Given the description of an element on the screen output the (x, y) to click on. 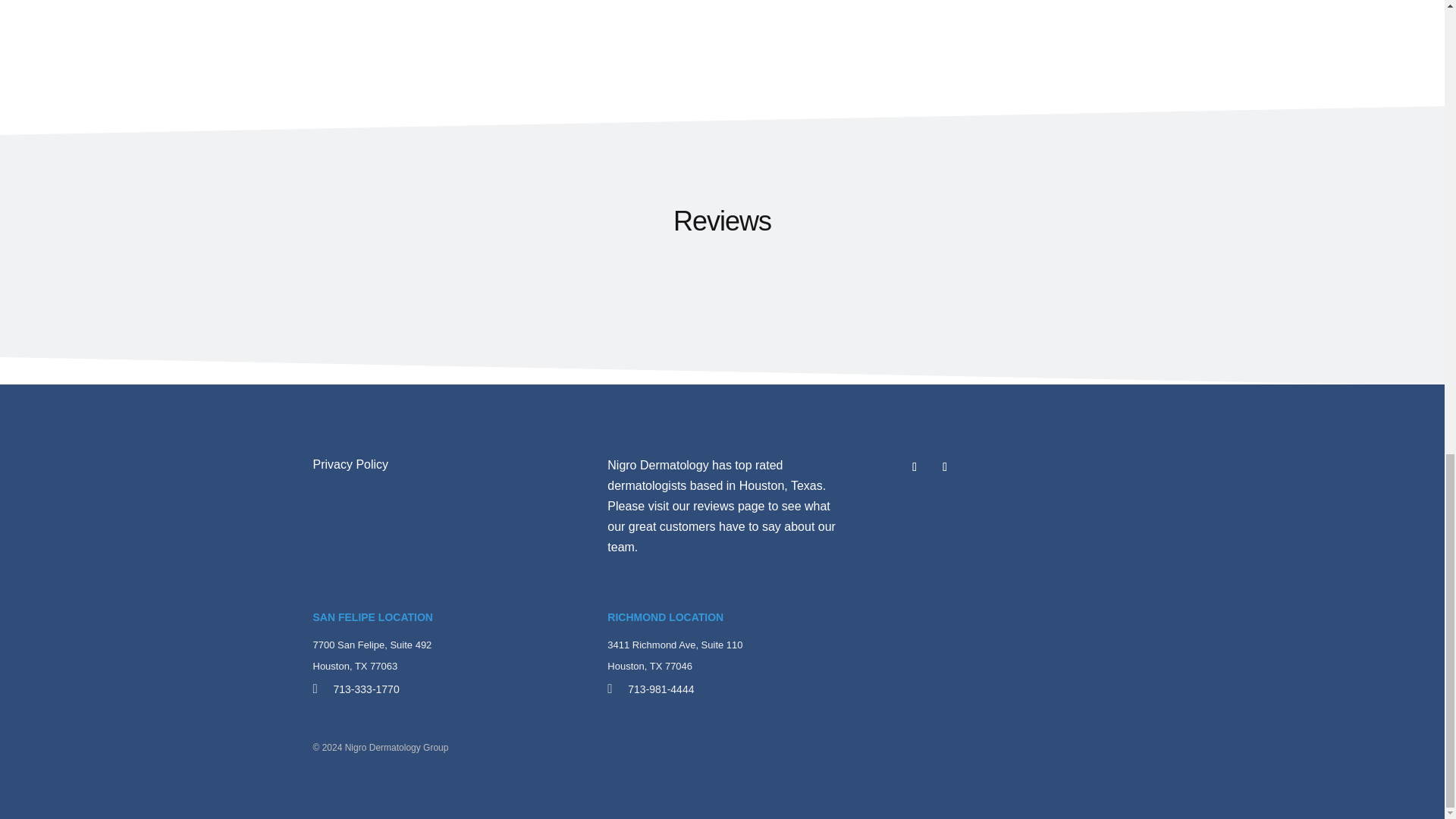
Follow on Facebook (914, 467)
Follow on Instagram (944, 467)
See Reviews (728, 505)
